Given the description of an element on the screen output the (x, y) to click on. 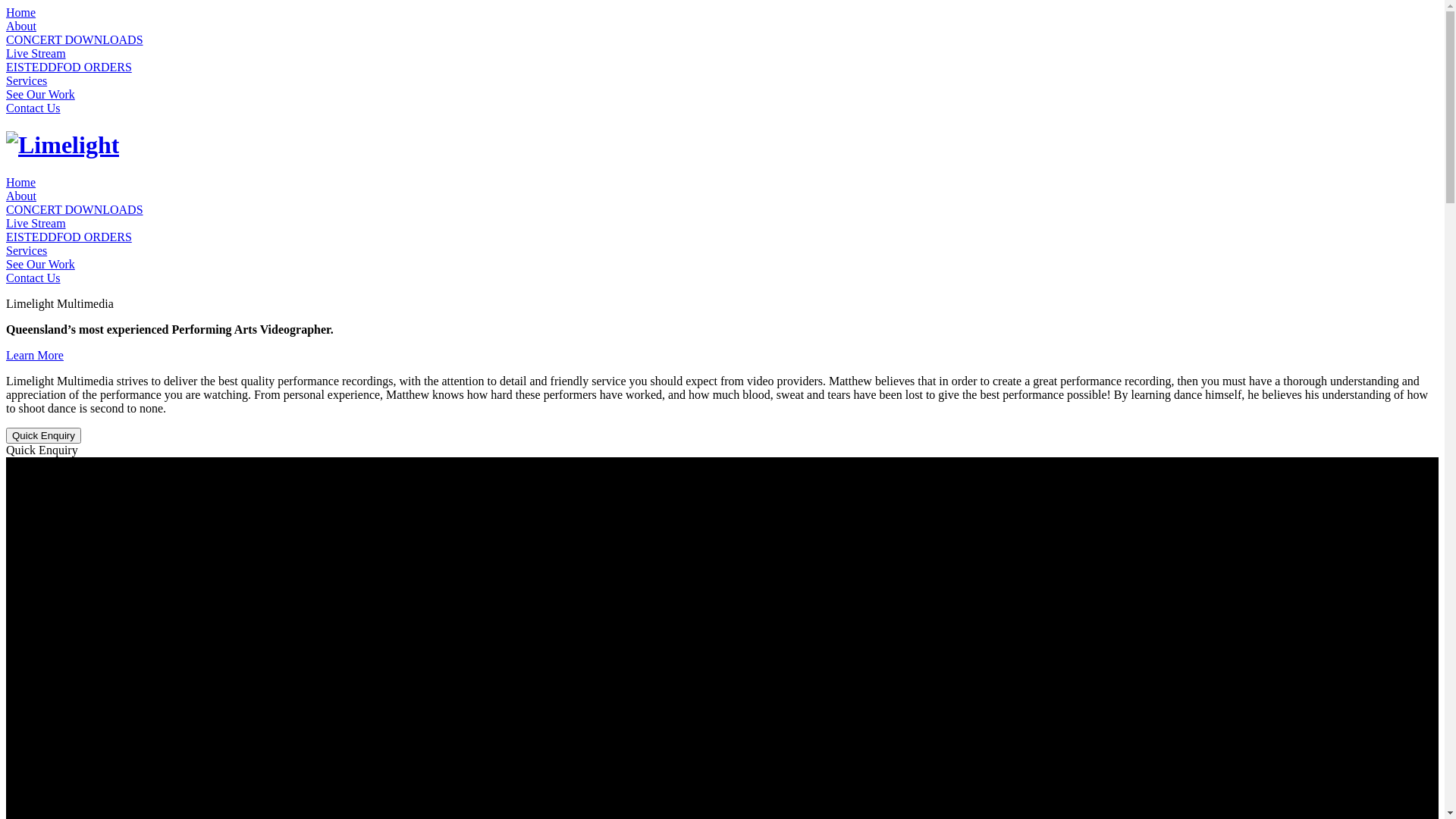
CONCERT DOWNLOADS Element type: text (74, 39)
EISTEDDFOD ORDERS Element type: text (68, 66)
About Element type: text (21, 25)
Contact Us Element type: text (33, 277)
Home Element type: text (20, 12)
Live Stream Element type: text (35, 53)
Contact Us Element type: text (33, 107)
EISTEDDFOD ORDERS Element type: text (68, 236)
Services Element type: text (26, 250)
See Our Work Element type: text (40, 93)
About Element type: text (21, 195)
Quick Enquiry Element type: text (43, 435)
Live Stream Element type: text (35, 222)
CONCERT DOWNLOADS Element type: text (74, 209)
Services Element type: text (26, 80)
See Our Work Element type: text (40, 263)
Home Element type: text (20, 181)
Learn More Element type: text (34, 354)
